Given the description of an element on the screen output the (x, y) to click on. 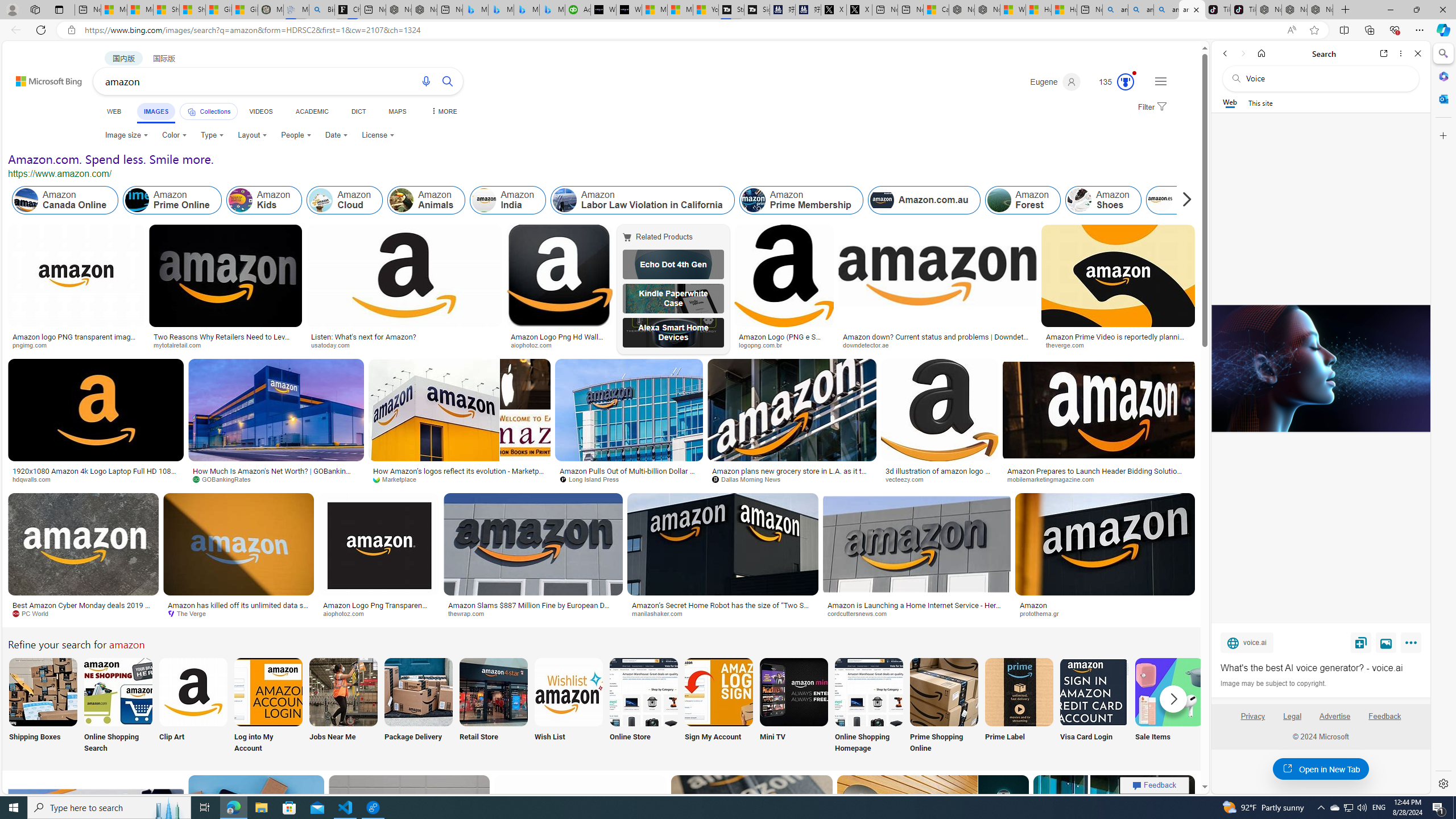
Amazon Visa Card Login (1093, 691)
Eugene (1054, 81)
Amazon Online Store Online Store (644, 706)
Advertise (1335, 715)
manilashaker.com (660, 612)
vecteezy.com (938, 479)
VIDEOS (260, 111)
Amazon Log into My Account Log into My Account (268, 706)
ACADEMIC (311, 111)
Nordace - Siena Pro 15 Essential Set (1320, 9)
Search the web (1326, 78)
Open link in new tab (1383, 53)
